Given the description of an element on the screen output the (x, y) to click on. 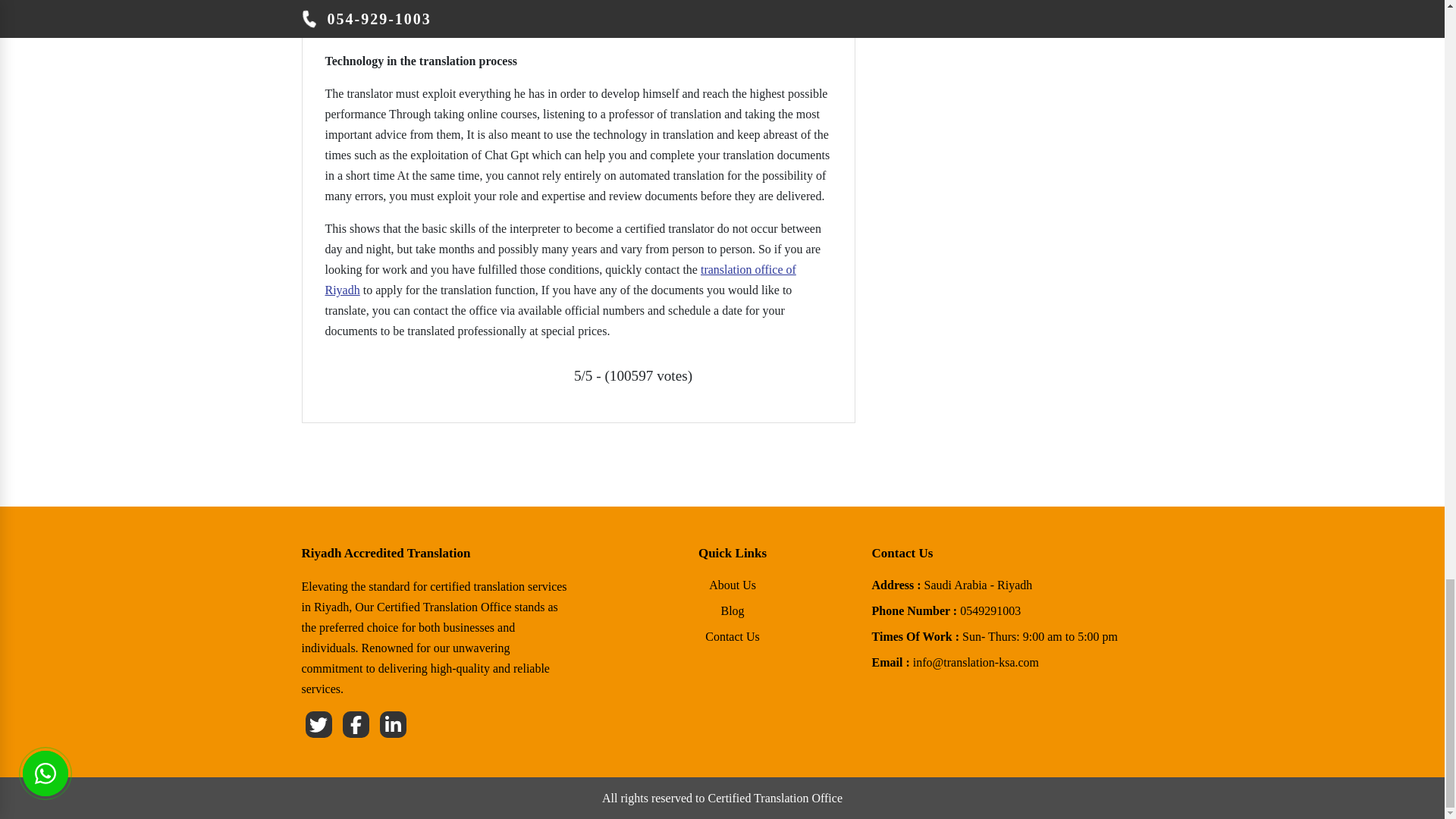
Blog (732, 610)
translation office of Riyadh (952, 585)
Contact Us (559, 279)
About Us (947, 610)
